Given the description of an element on the screen output the (x, y) to click on. 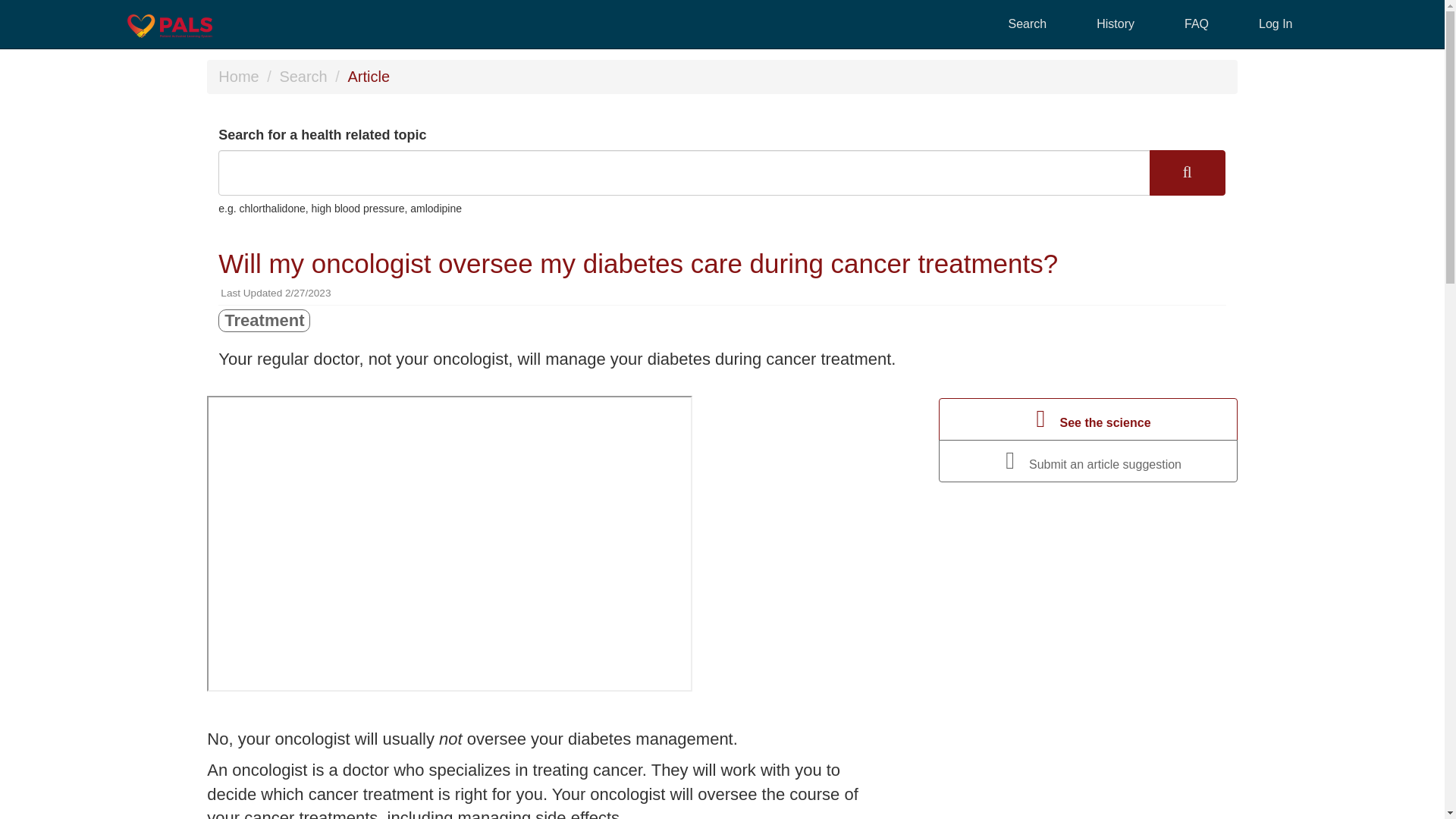
Search (1027, 24)
History (1114, 24)
Home (238, 76)
Log In (1275, 24)
FAQ (1195, 24)
See the science (1088, 419)
Submit an article suggestion (1088, 460)
Search (302, 76)
